Given the description of an element on the screen output the (x, y) to click on. 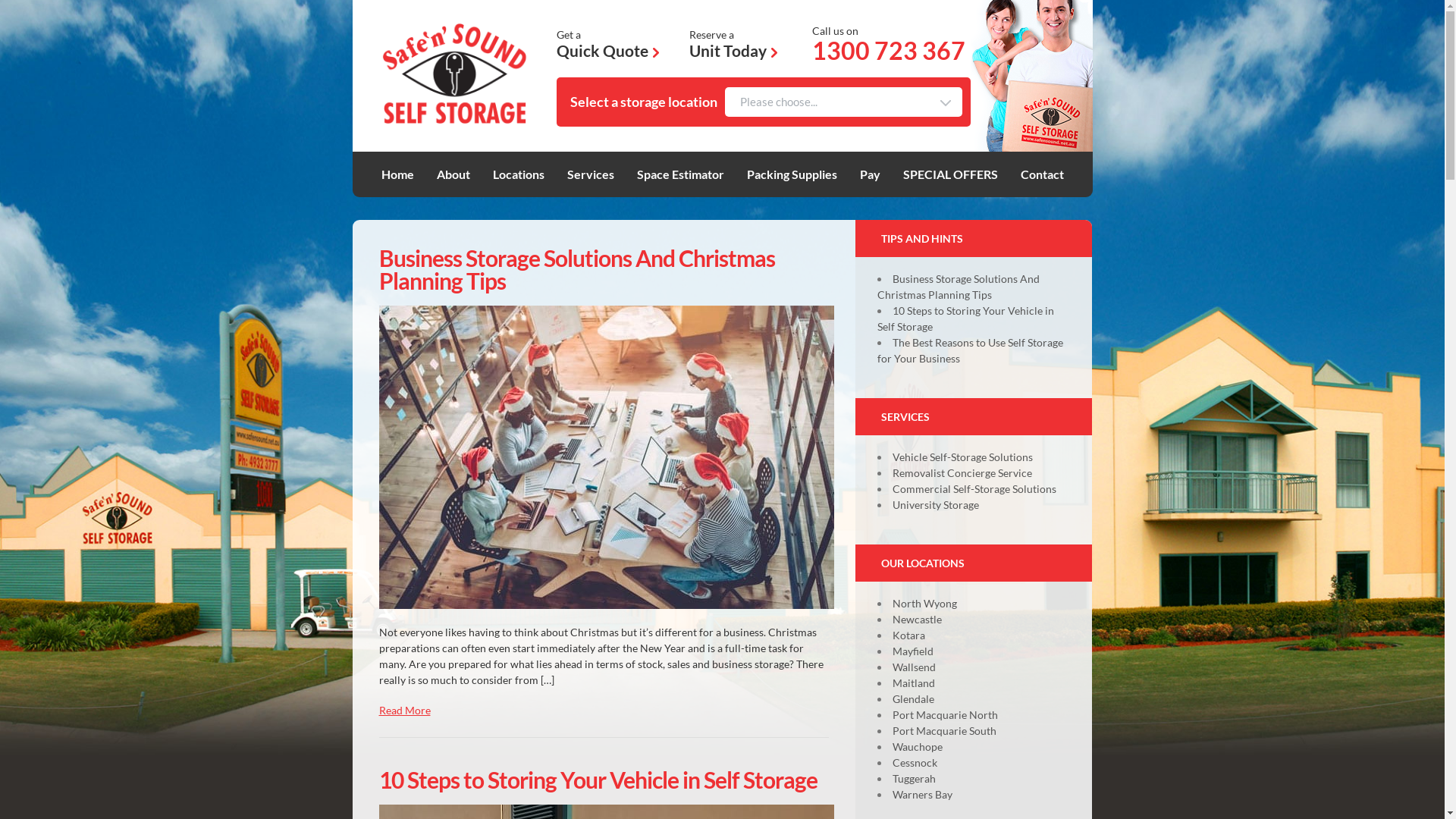
Wauchope Element type: text (917, 746)
The Best Reasons to Use Self Storage for Your Business Element type: text (970, 349)
10 Steps to Storing Your Vehicle in Self Storage Element type: text (598, 779)
Cessnock Element type: text (914, 762)
Vehicle Self-Storage Solutions Element type: text (962, 456)
Safe 'n SOUND Self Storage Element type: text (453, 75)
Pay Element type: text (869, 174)
SPECIAL OFFERS Element type: text (949, 174)
Maitland Element type: text (913, 682)
Port Macquarie North Element type: text (944, 714)
Removalist Concierge Service Element type: text (962, 472)
Reserve a
Unit Today Element type: text (733, 44)
About Element type: text (453, 174)
University Storage Element type: text (935, 504)
Newcastle Element type: text (916, 618)
Contact Element type: text (1041, 174)
Locations Element type: text (518, 174)
10 Steps to Storing Your Vehicle in Self Storage Element type: text (965, 318)
Kotara Element type: text (908, 634)
Glendale Element type: text (913, 698)
Business Storage Solutions And Christmas Planning Tips Element type: text (958, 286)
Get a
Quick Quote Element type: text (607, 44)
Mayfield Element type: text (912, 650)
Space Estimator Element type: text (680, 174)
Port Macquarie South Element type: text (944, 730)
Business Storage Solutions And Christmas Planning Tips Element type: text (577, 269)
Warners Bay Element type: text (922, 793)
Read More Element type: text (404, 709)
North Wyong Element type: text (924, 602)
Services Element type: text (590, 174)
Home Element type: text (396, 174)
Packing Supplies Element type: text (791, 174)
Wallsend Element type: text (913, 666)
Tuggerah Element type: text (913, 777)
Commercial Self-Storage Solutions Element type: text (974, 488)
1300 723 367 Element type: text (888, 50)
